Given the description of an element on the screen output the (x, y) to click on. 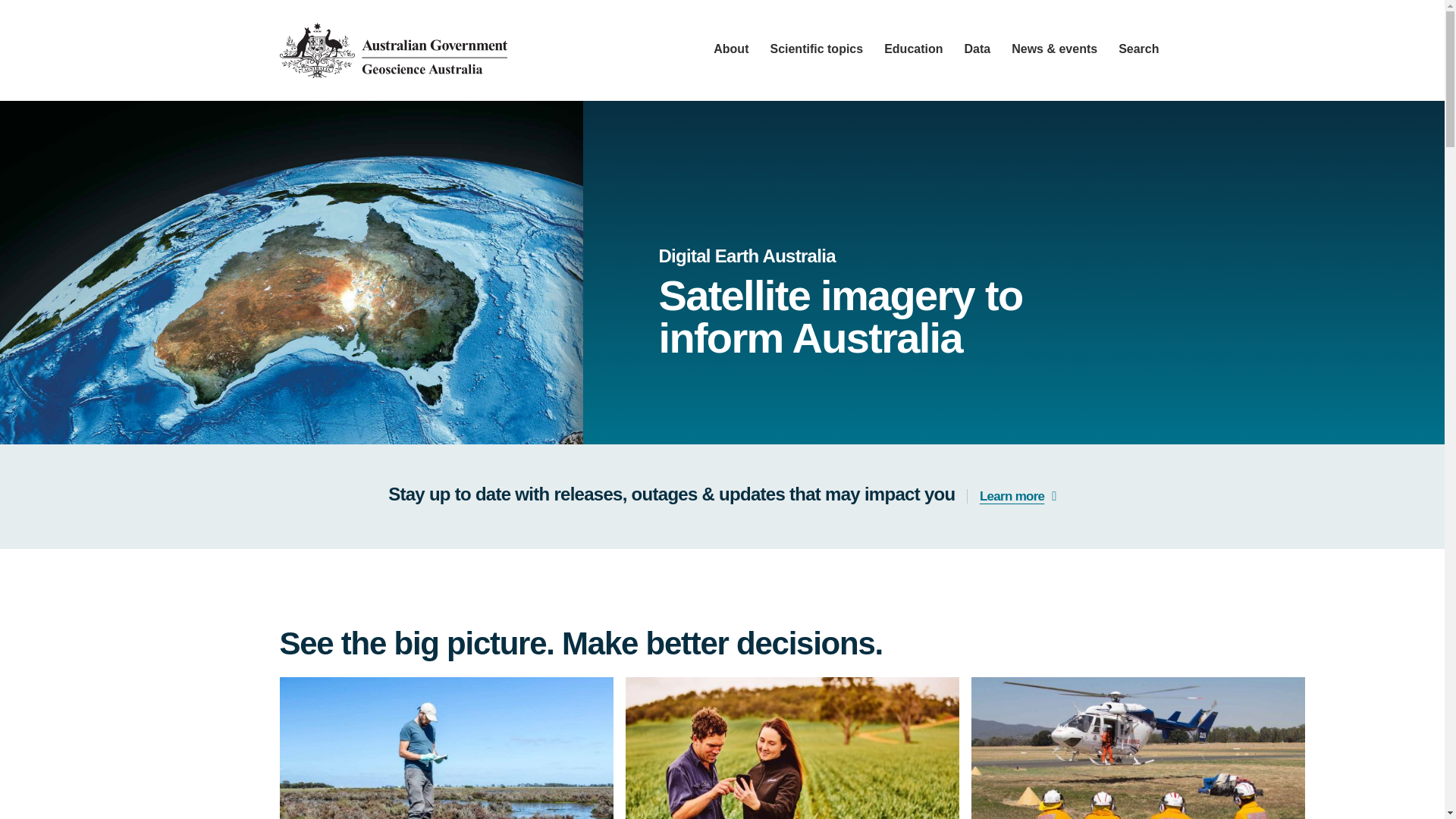
Learn more (1011, 495)
Scientific topics (816, 39)
About (730, 39)
Education (912, 39)
